Given the description of an element on the screen output the (x, y) to click on. 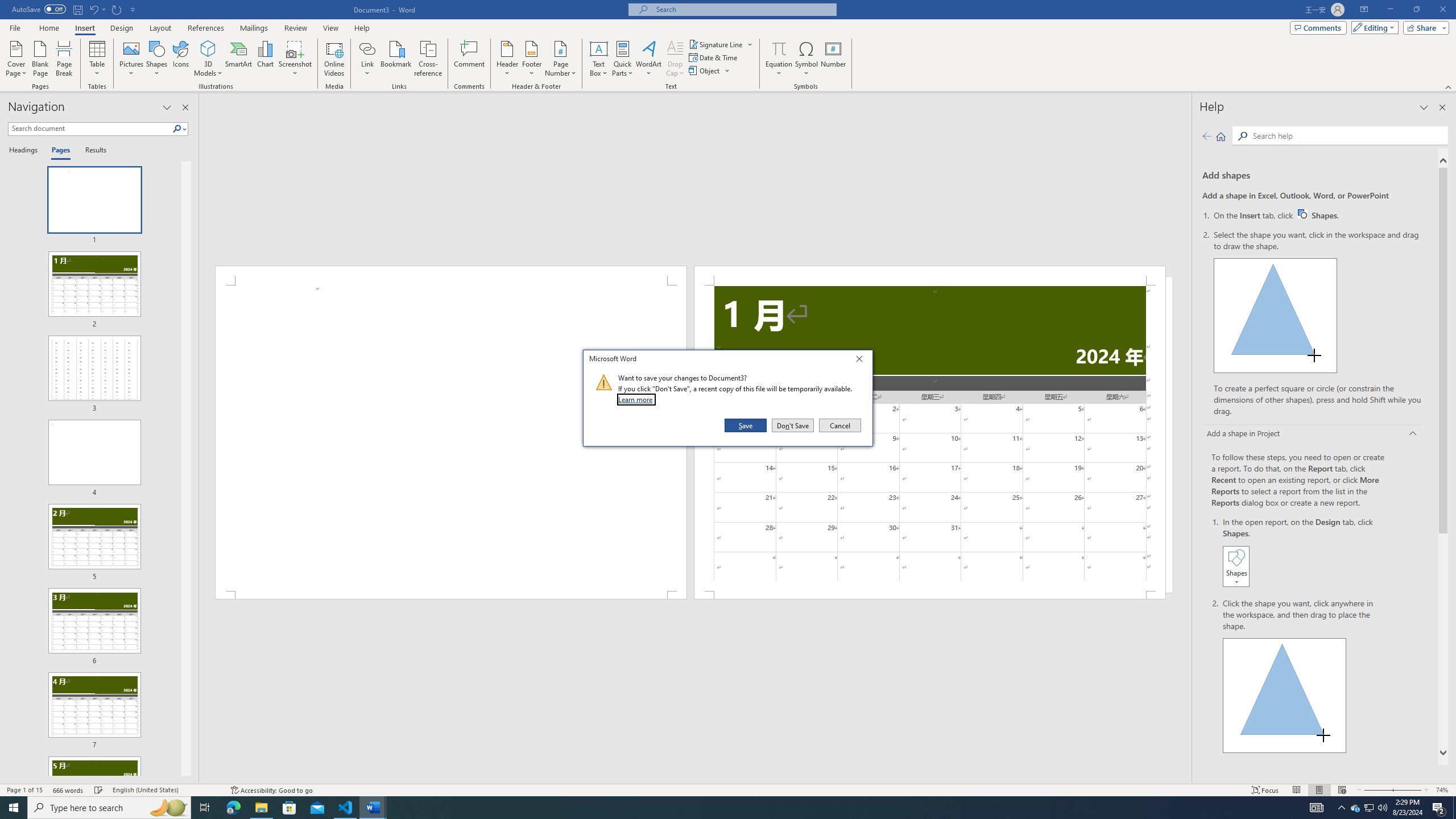
Results (91, 150)
3D Models (208, 48)
Type here to search (108, 807)
Signature Line (721, 44)
Show desktop (1454, 807)
Footer -Section 1- (930, 595)
